Given the description of an element on the screen output the (x, y) to click on. 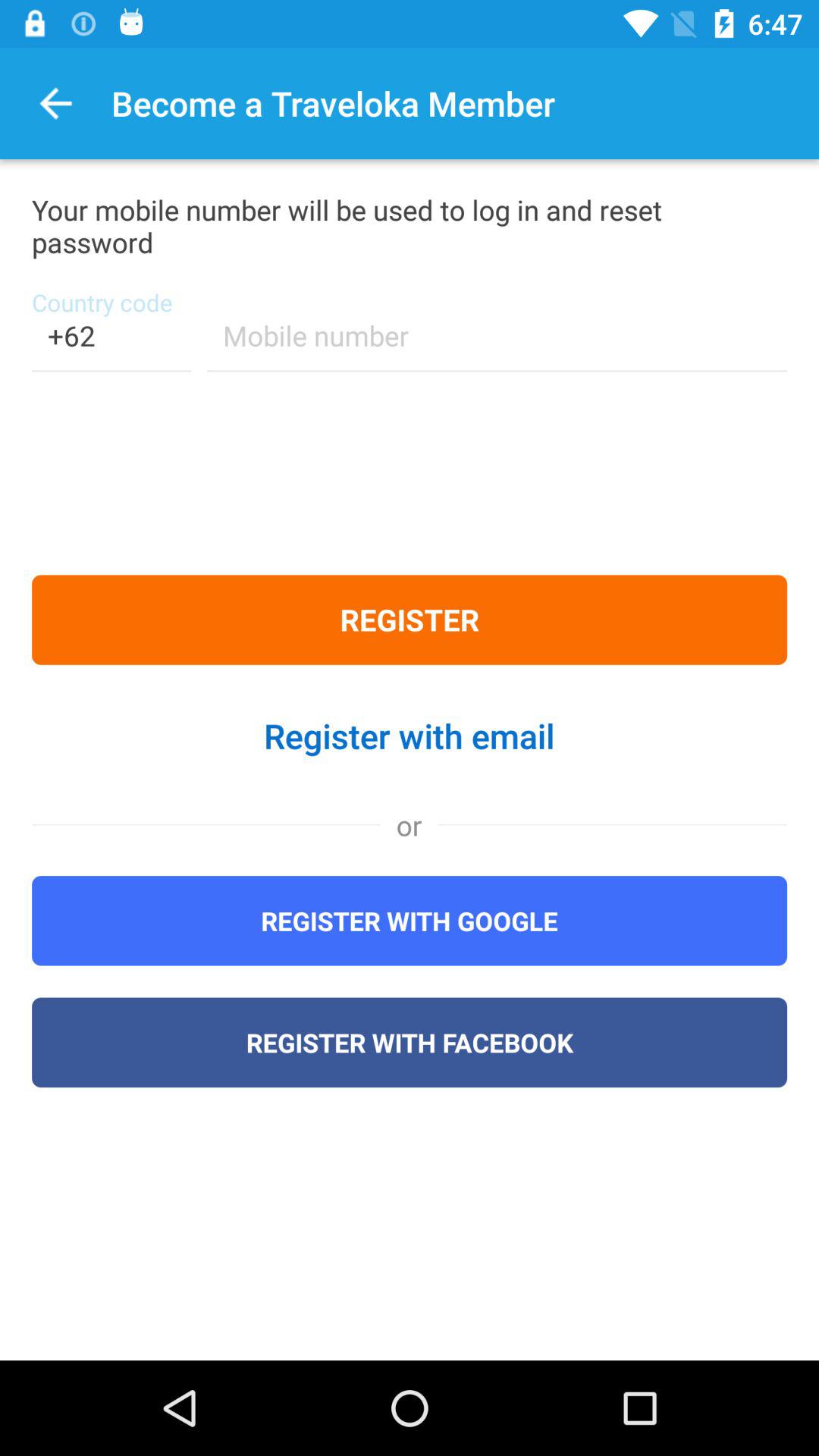
turn on the +62 (111, 345)
